Given the description of an element on the screen output the (x, y) to click on. 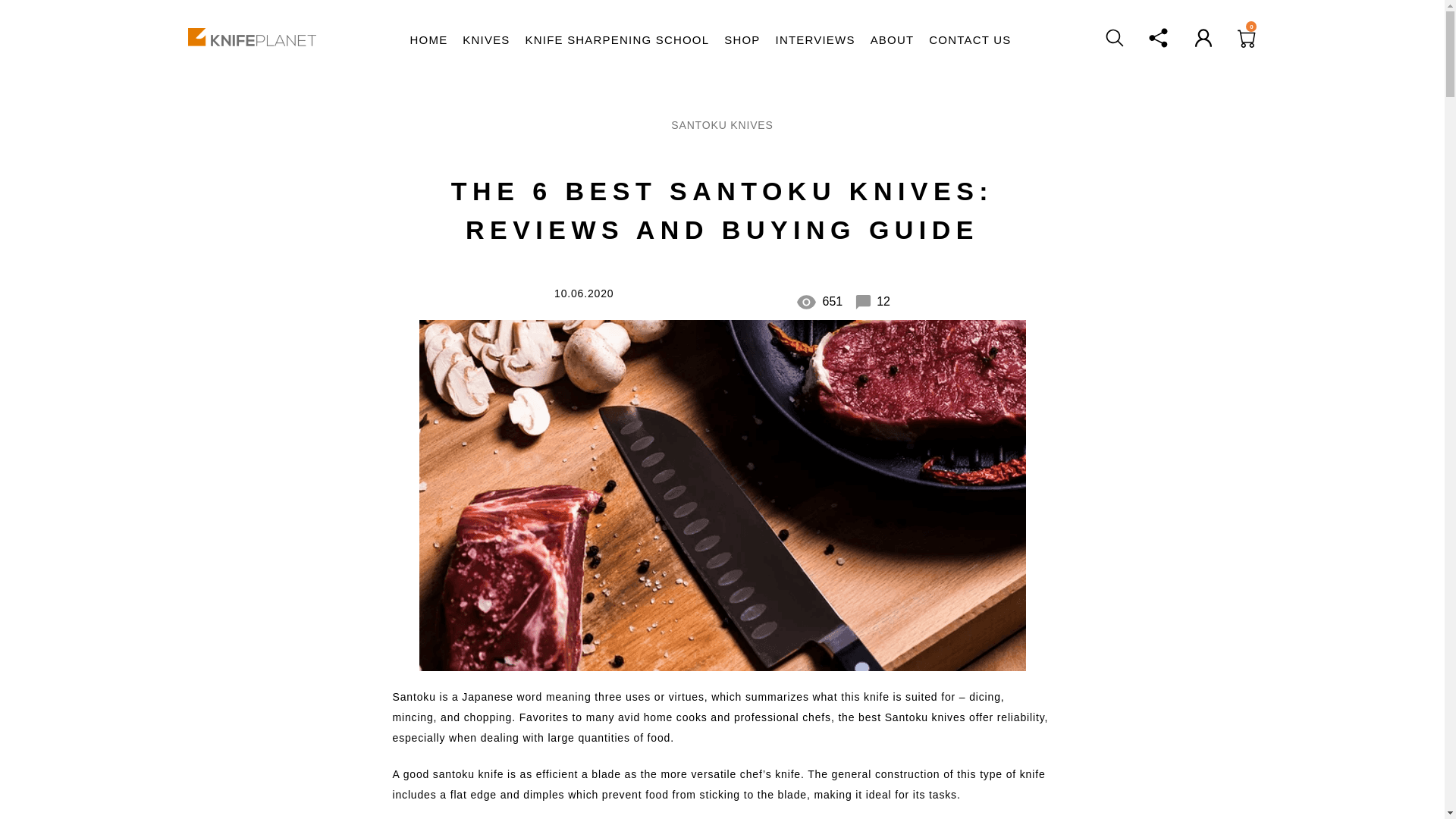
INTERVIEWS (816, 40)
HOME (429, 40)
SHOP (741, 40)
CONTACT US (969, 40)
KNIFE SHARPENING SCHOOL (617, 40)
ABOUT (892, 40)
KNIVES (486, 40)
